Given the description of an element on the screen output the (x, y) to click on. 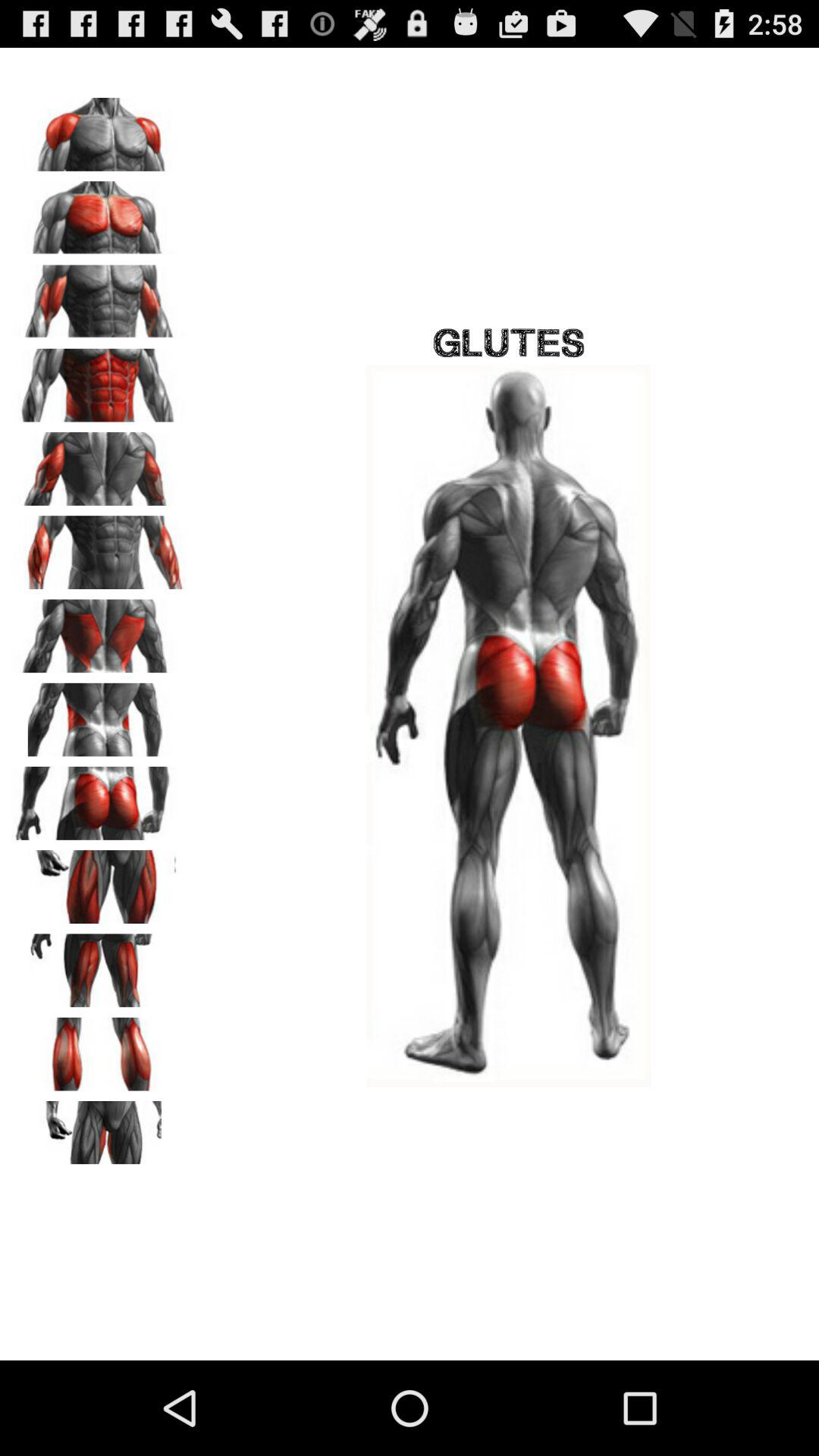
this button will let you look at the leg muscles affected (99, 881)
